Given the description of an element on the screen output the (x, y) to click on. 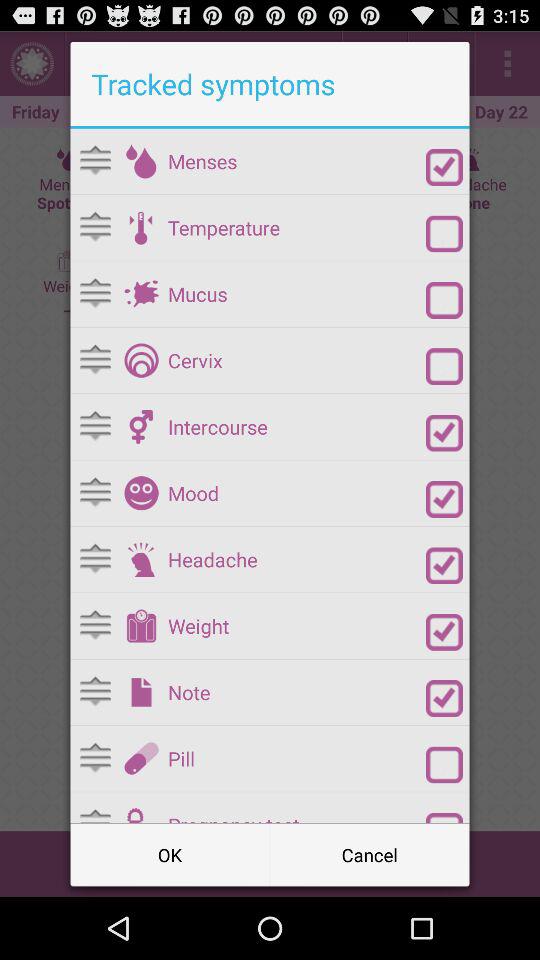
go to selcet (444, 432)
